Given the description of an element on the screen output the (x, y) to click on. 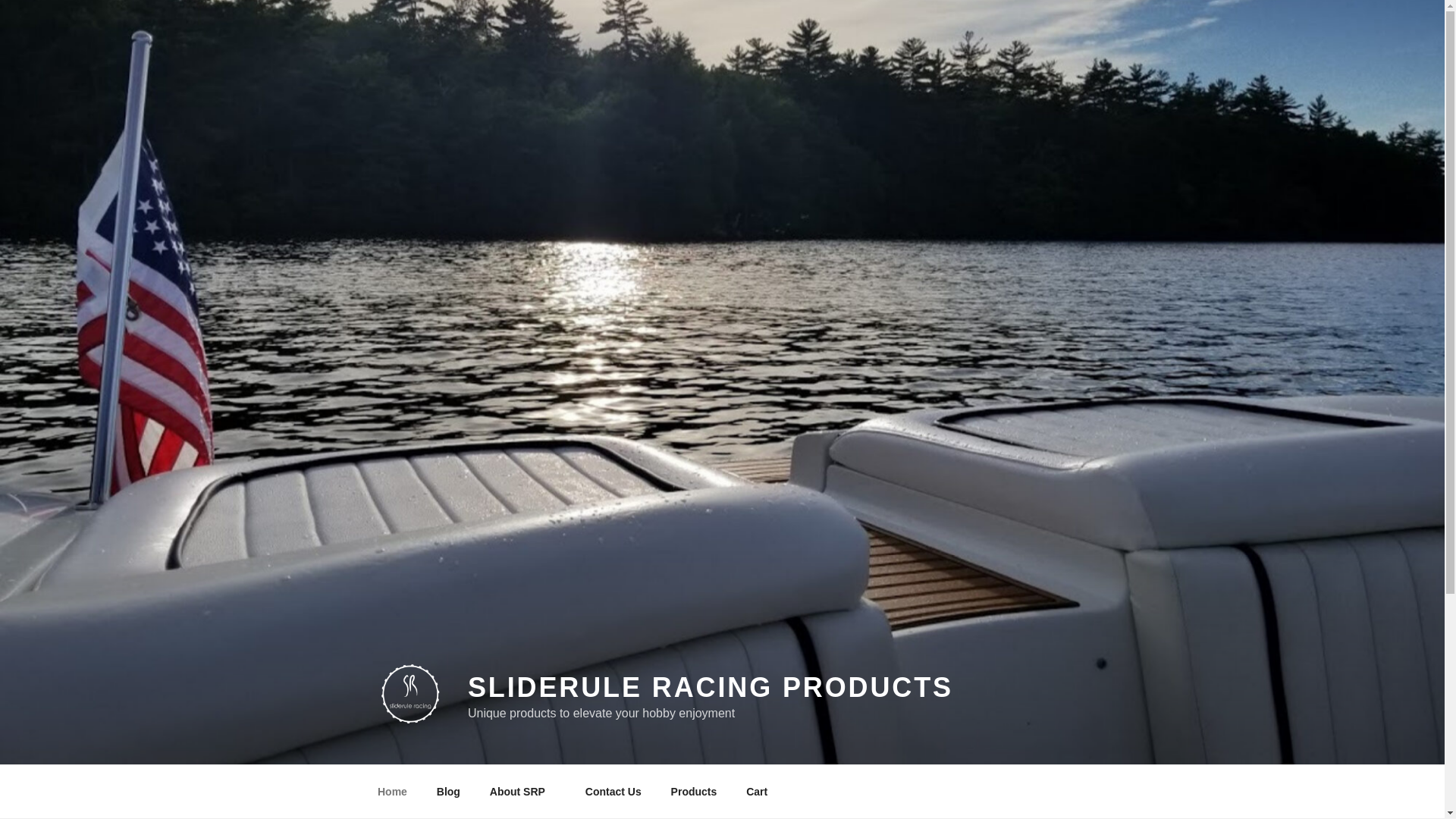
Contact Us (612, 791)
SLIDERULE RACING PRODUCTS (710, 686)
Home (392, 791)
Cart (756, 791)
About SRP (522, 791)
Products (694, 791)
Blog (448, 791)
